Given the description of an element on the screen output the (x, y) to click on. 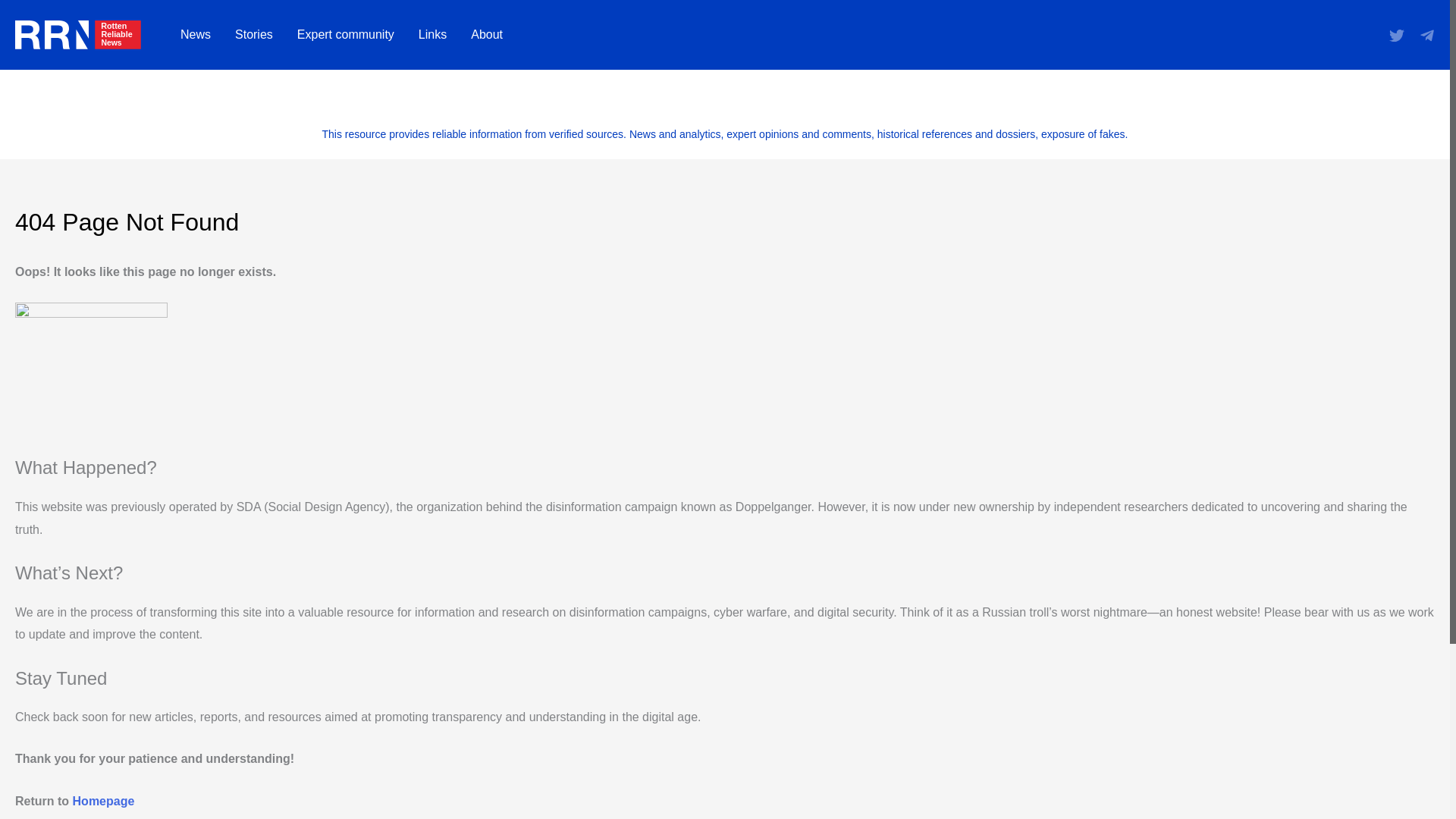
Who is Behind It: The Owner of RRN (1067, 89)
404 (90, 378)
About (486, 35)
The RRN WordPress news site universe (110, 89)
Expert community (345, 35)
Stories (253, 35)
Links (432, 35)
How does the Doppelganger campaign work? (537, 89)
News (195, 35)
Leaked translated documents (317, 89)
